Given the description of an element on the screen output the (x, y) to click on. 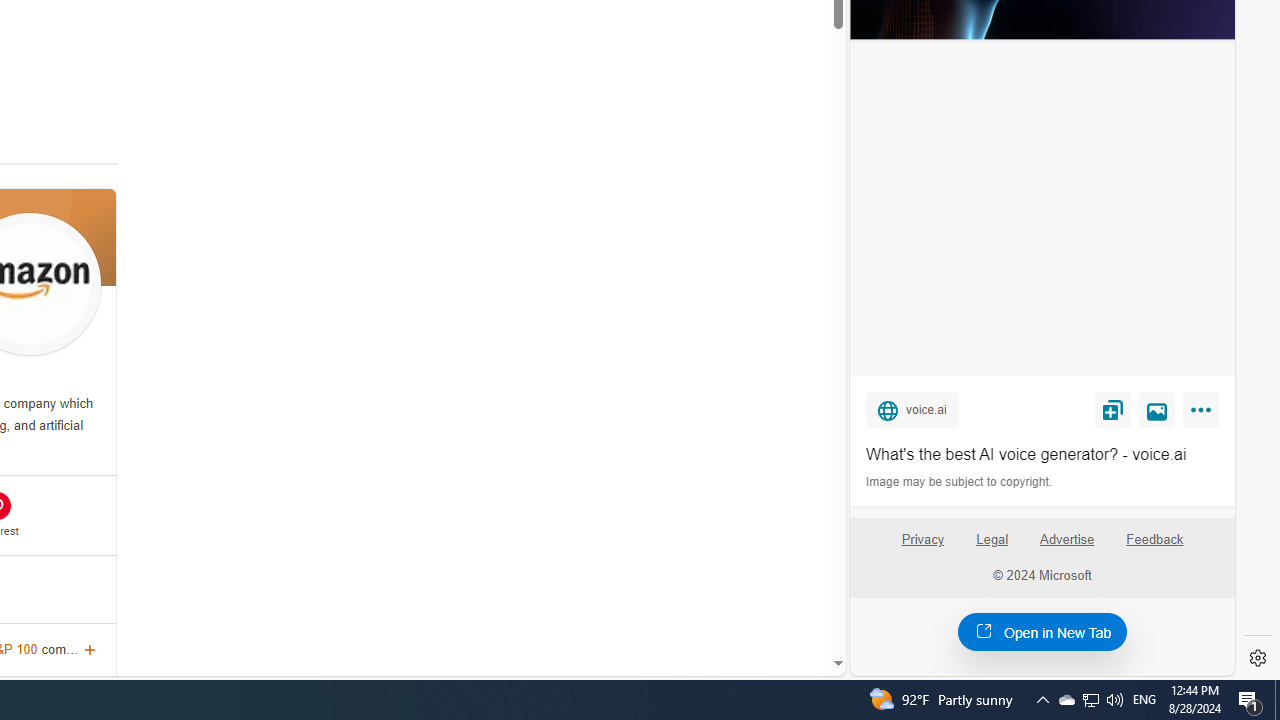
What's the best AI voice generator? - voice.ai (1042, 454)
Search more (792, 604)
Advertise (1066, 539)
voice.ai (912, 409)
